Given the description of an element on the screen output the (x, y) to click on. 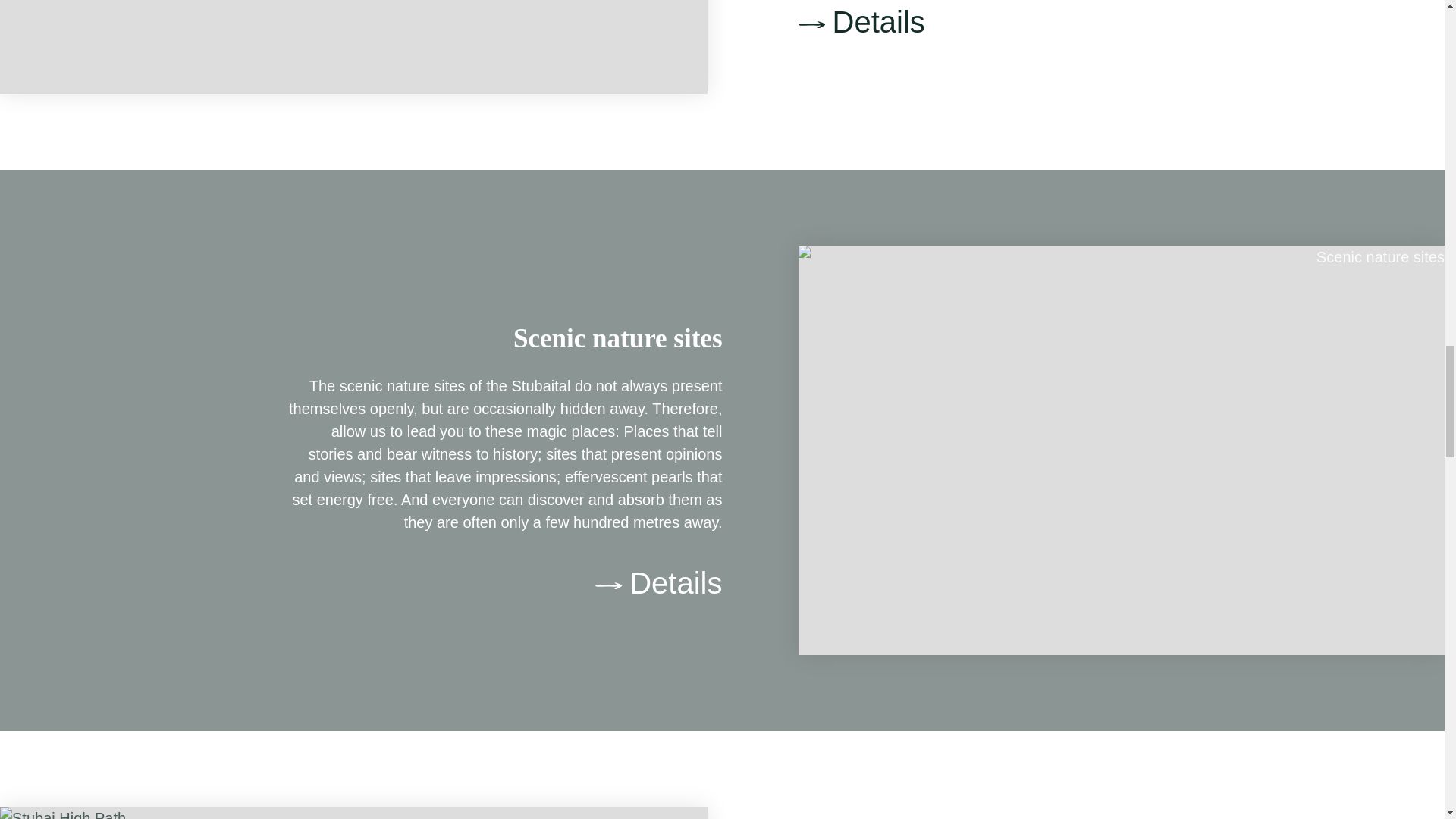
Details (1017, 21)
Details (658, 583)
Scenic nature sites (617, 337)
